Given the description of an element on the screen output the (x, y) to click on. 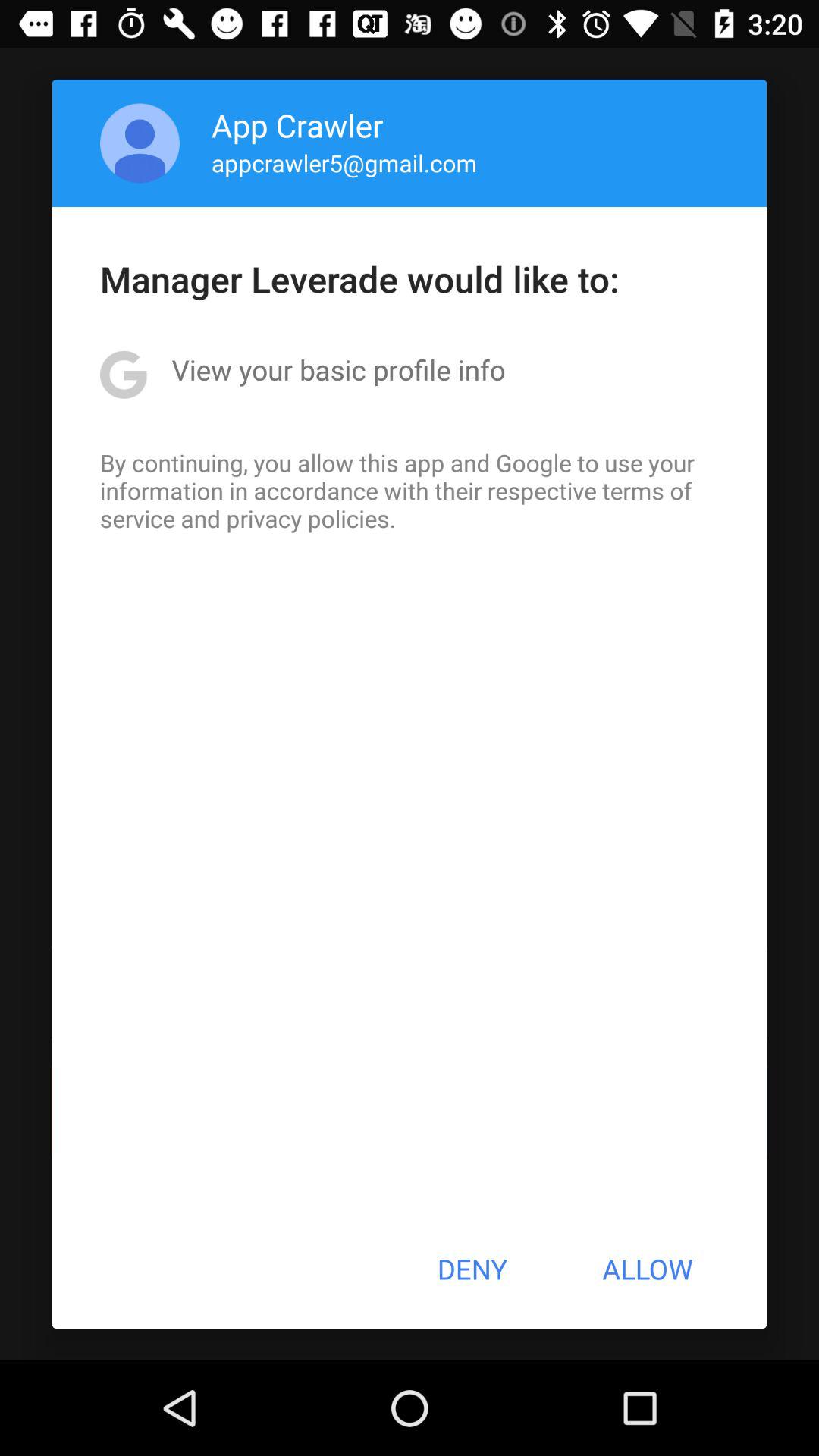
turn off app above the manager leverade would (344, 162)
